Given the description of an element on the screen output the (x, y) to click on. 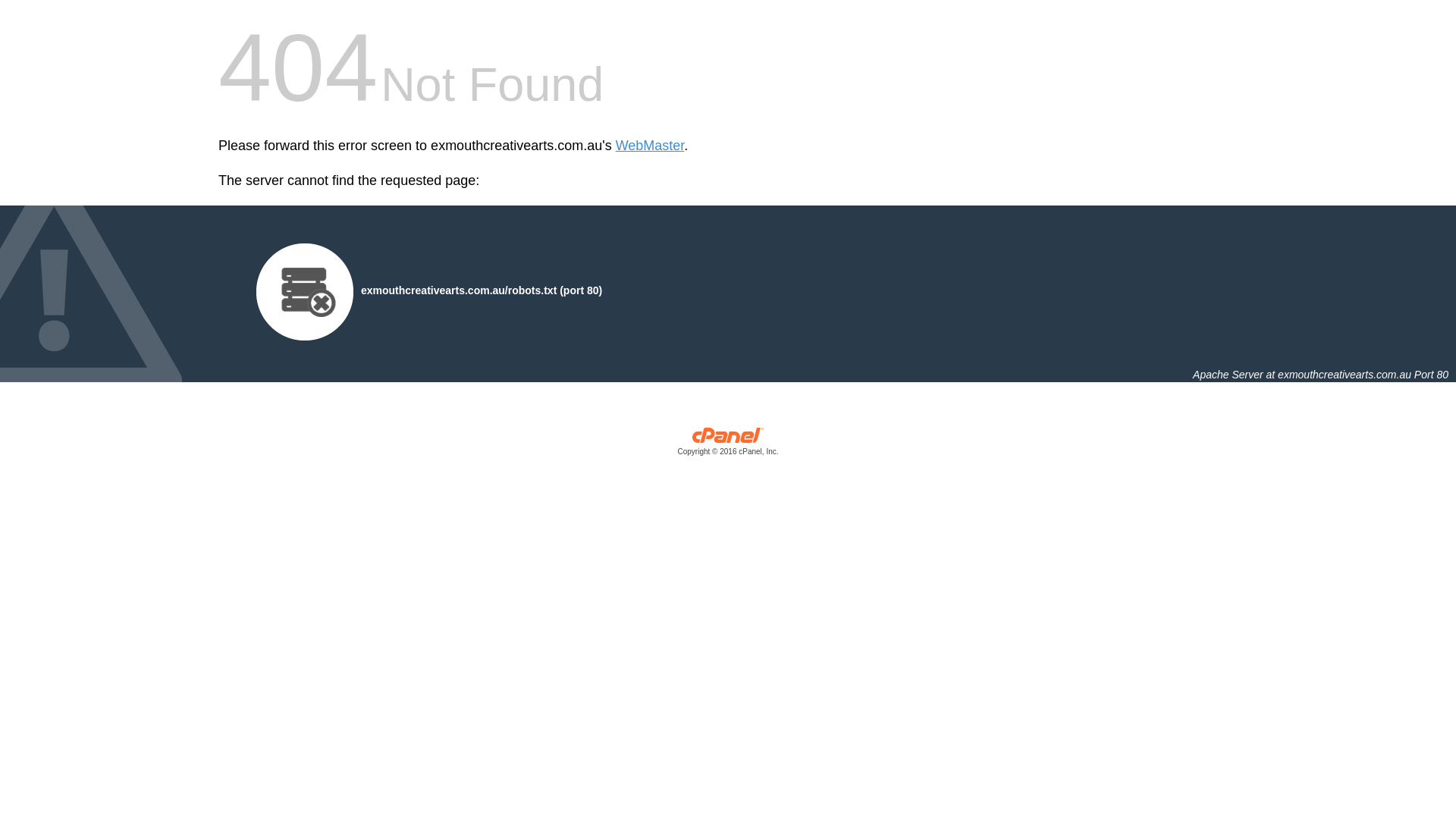
WebMaster Element type: text (649, 145)
